Given the description of an element on the screen output the (x, y) to click on. 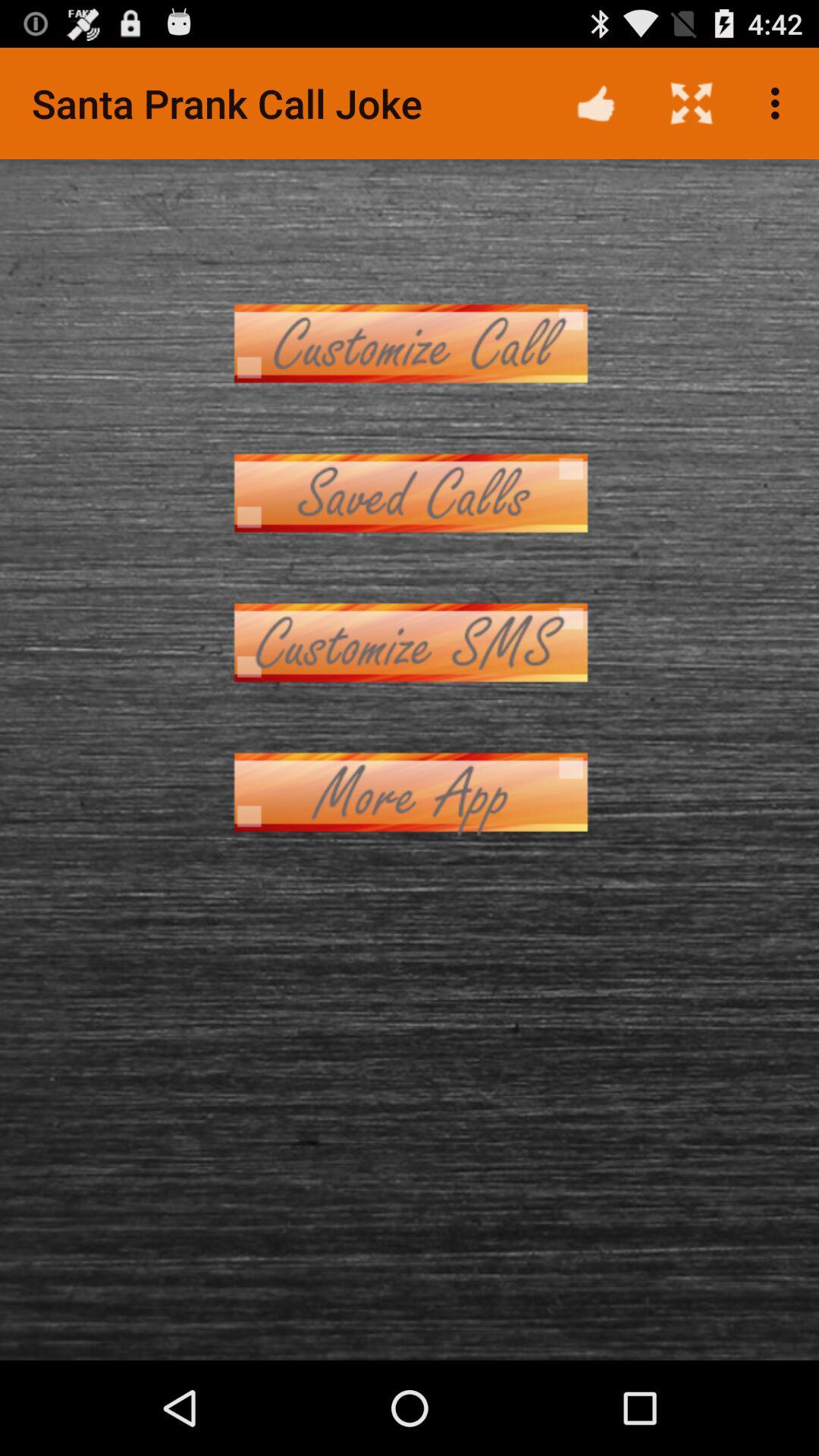
open more options for the app (409, 792)
